Given the description of an element on the screen output the (x, y) to click on. 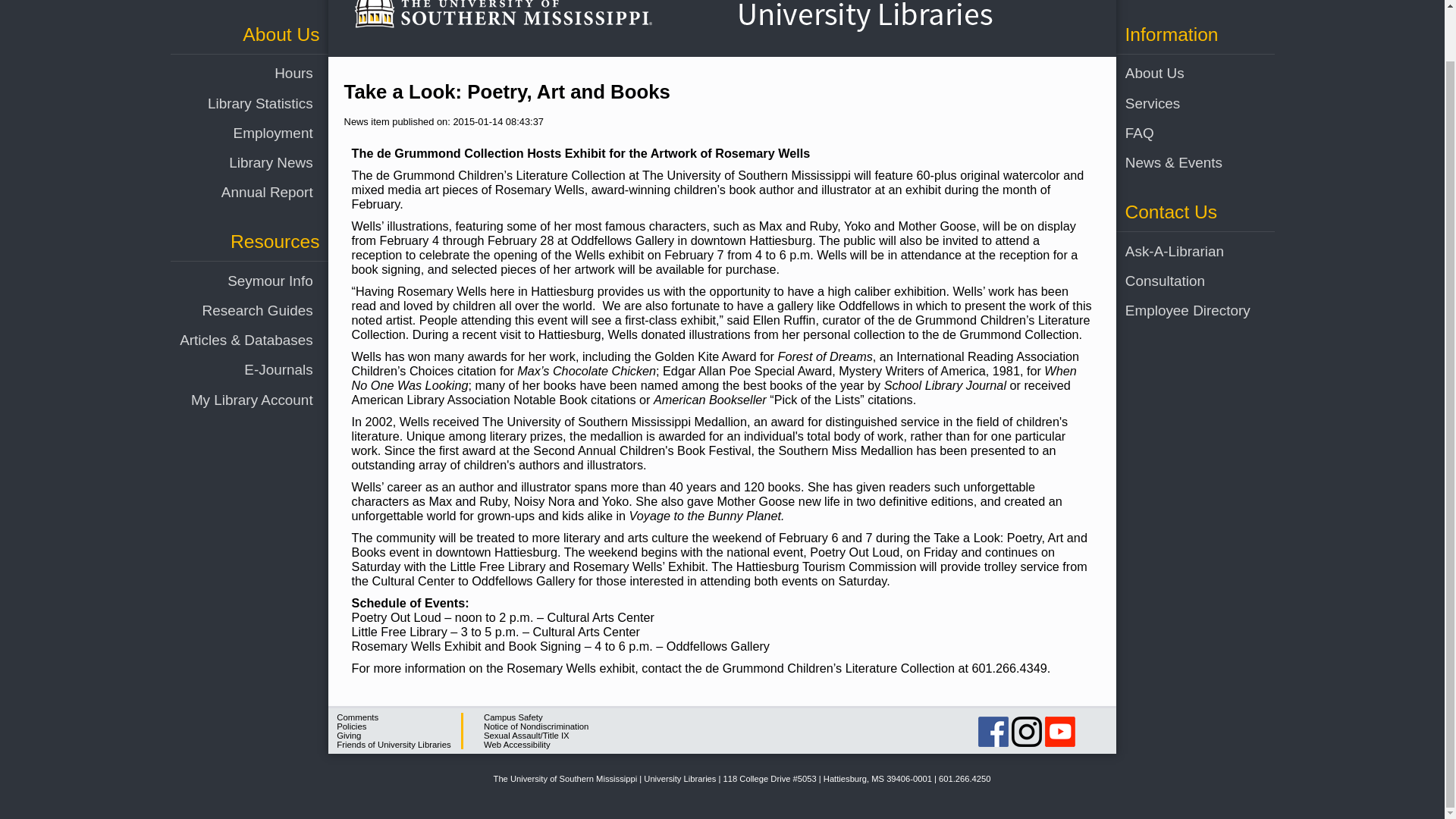
Seymour Info (235, 225)
Link to Comments (357, 716)
About Us (1182, 17)
Employment (235, 77)
Services (1182, 48)
Youtube (1060, 731)
E-Journals (235, 314)
Research Guides (235, 255)
Library Statistics (235, 48)
Link to Donations (348, 735)
instagram (1026, 731)
Link to Friends of University Libraries (392, 744)
Hours (235, 17)
My Library Account (235, 344)
Cook Library on Facebook (993, 731)
